Given the description of an element on the screen output the (x, y) to click on. 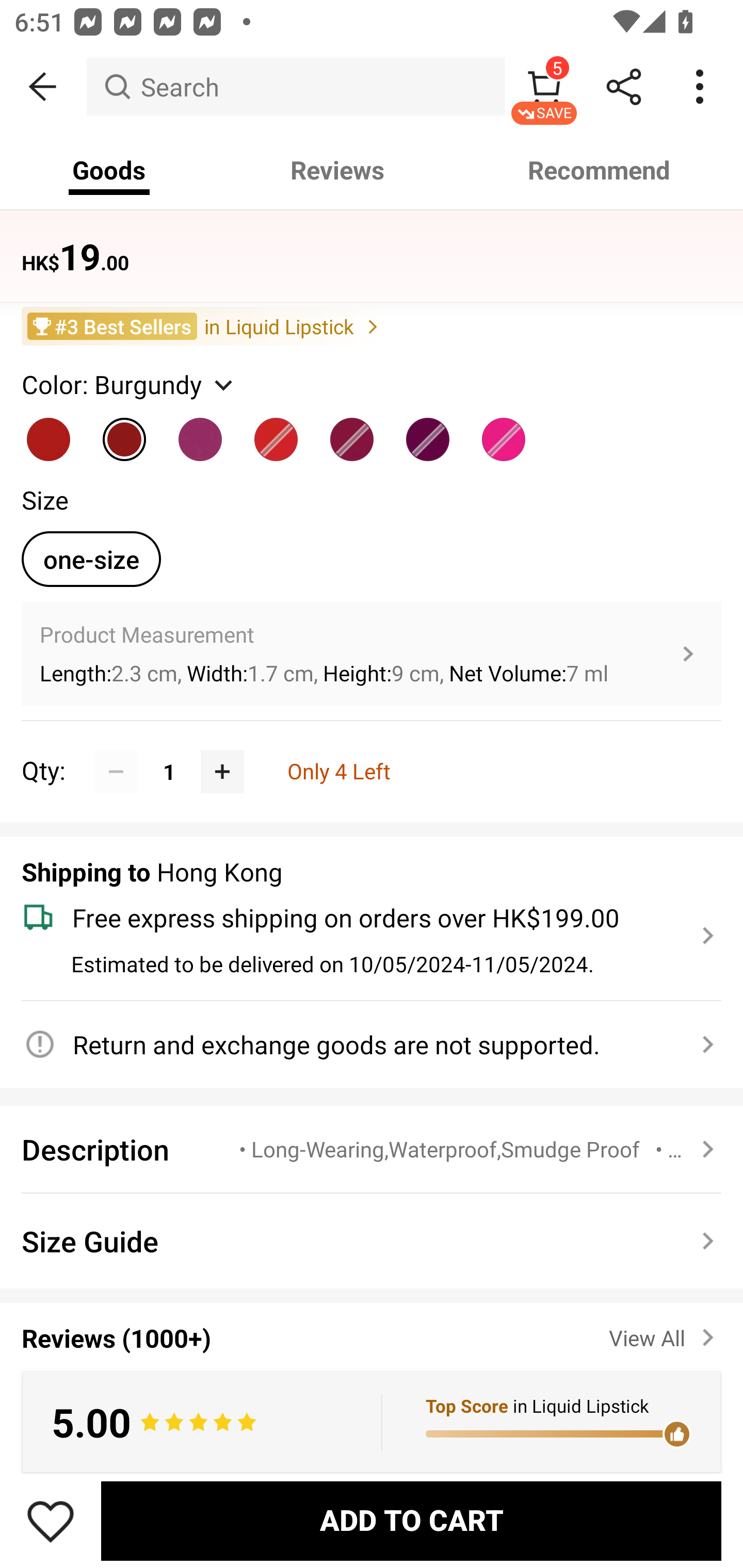
BACK (43, 86)
5 SAVE (543, 87)
Search (295, 87)
Goods (109, 170)
Reviews (337, 170)
Recommend (599, 170)
#3 Best Sellers in Liquid Lipstick (371, 325)
Color: Burgundy (129, 383)
Red (48, 430)
Burgundy (124, 430)
Mauve Purple (200, 430)
Redwood (276, 430)
02 Grape Jelly (352, 430)
Purple (427, 430)
Rusty Rose (503, 430)
Size (44, 499)
one-size one-sizeselected option (91, 558)
Qty: 1 Only 4 Left (371, 749)
Return and exchange goods are not supported. (359, 1044)
Size Guide (371, 1240)
View All (664, 1333)
ADD TO CART (411, 1520)
Save (50, 1520)
